Given the description of an element on the screen output the (x, y) to click on. 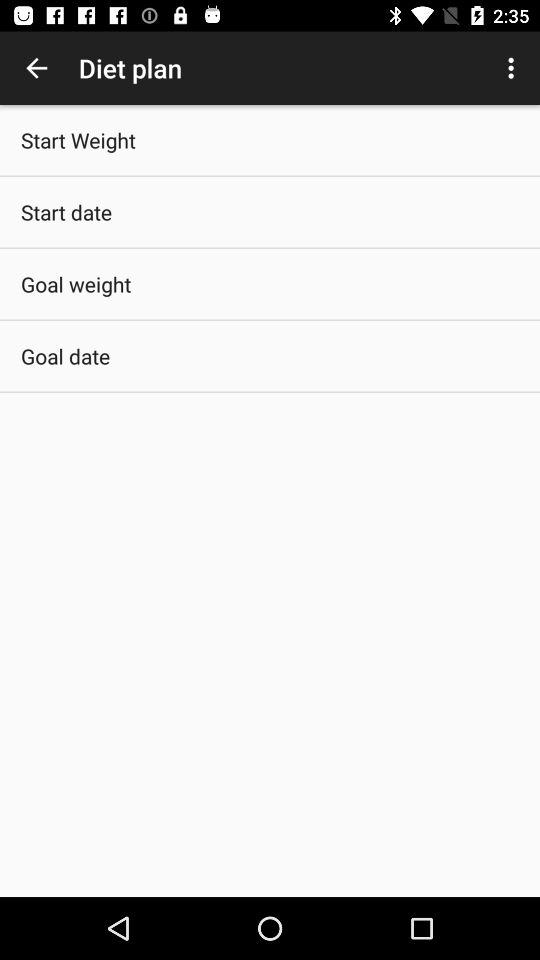
flip to start date (66, 211)
